Given the description of an element on the screen output the (x, y) to click on. 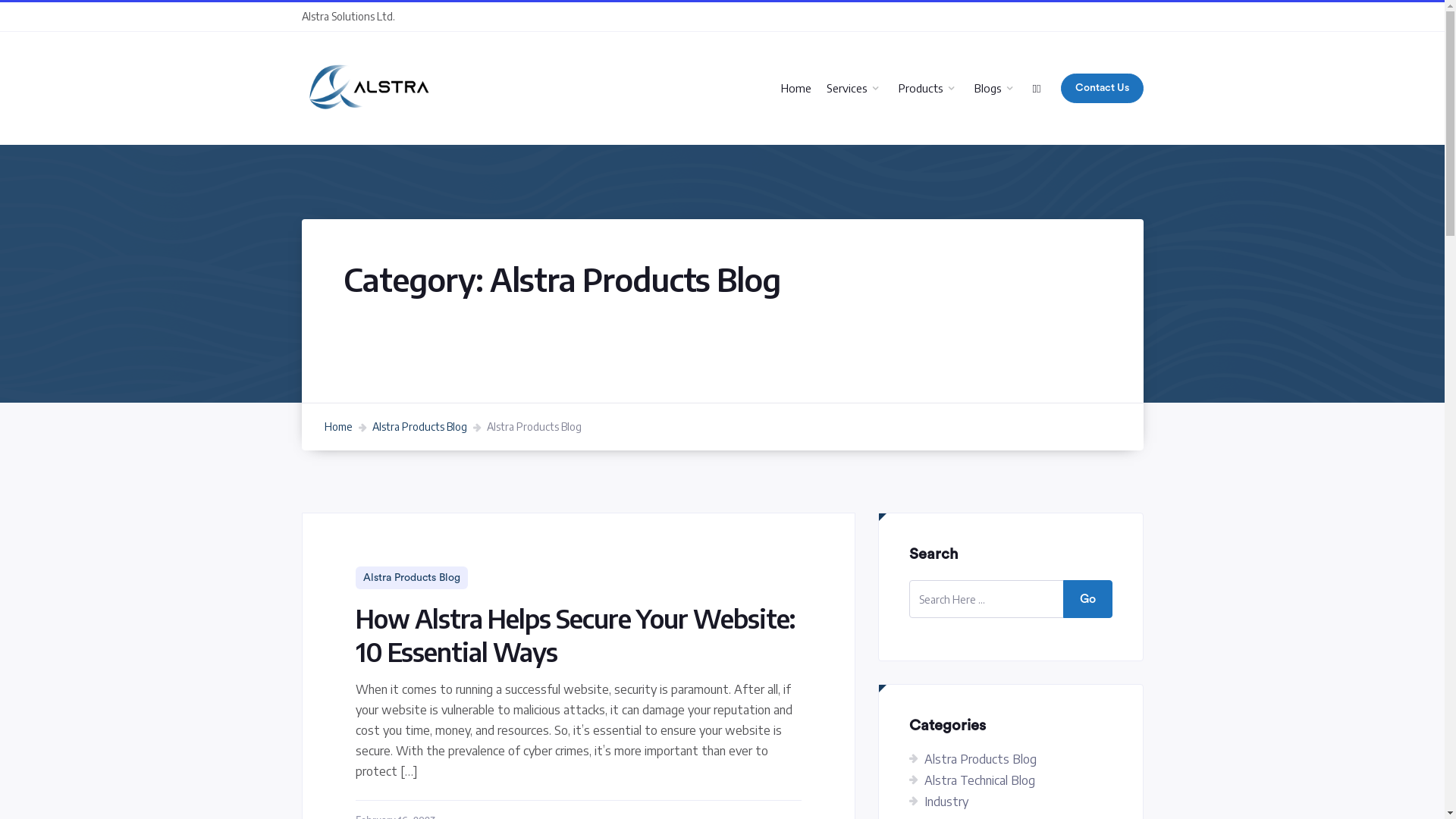
Alstra Products Blog Element type: text (979, 758)
Go Element type: text (1087, 599)
Services Element type: text (855, 88)
How Alstra Helps Secure Your Website: 10 Essential Ways Element type: text (573, 634)
Alstra Products Blog Element type: text (418, 426)
Alstra Technical Blog Element type: text (978, 779)
Home Element type: text (338, 426)
Alstra Products Blog Element type: text (410, 577)
Home Element type: text (796, 88)
Contact Us Element type: text (1101, 88)
Blogs Element type: text (995, 88)
Industry Element type: text (945, 801)
Products Element type: text (928, 88)
